Given the description of an element on the screen output the (x, y) to click on. 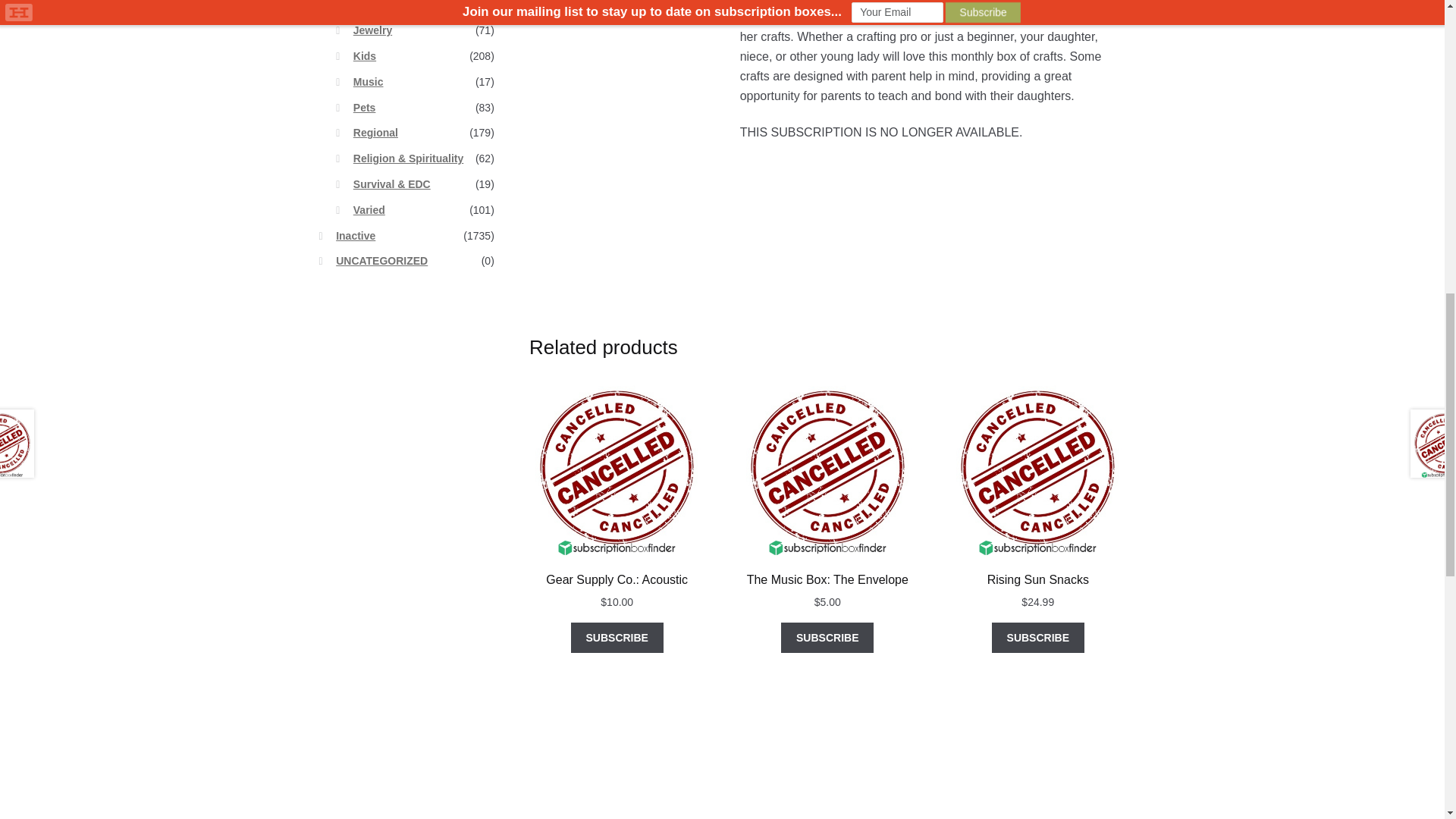
SUBSCRIBE (826, 637)
SUBSCRIBE (1037, 637)
Advertisement (932, 258)
SUBSCRIBE (616, 637)
Advertisement (406, 535)
